Given the description of an element on the screen output the (x, y) to click on. 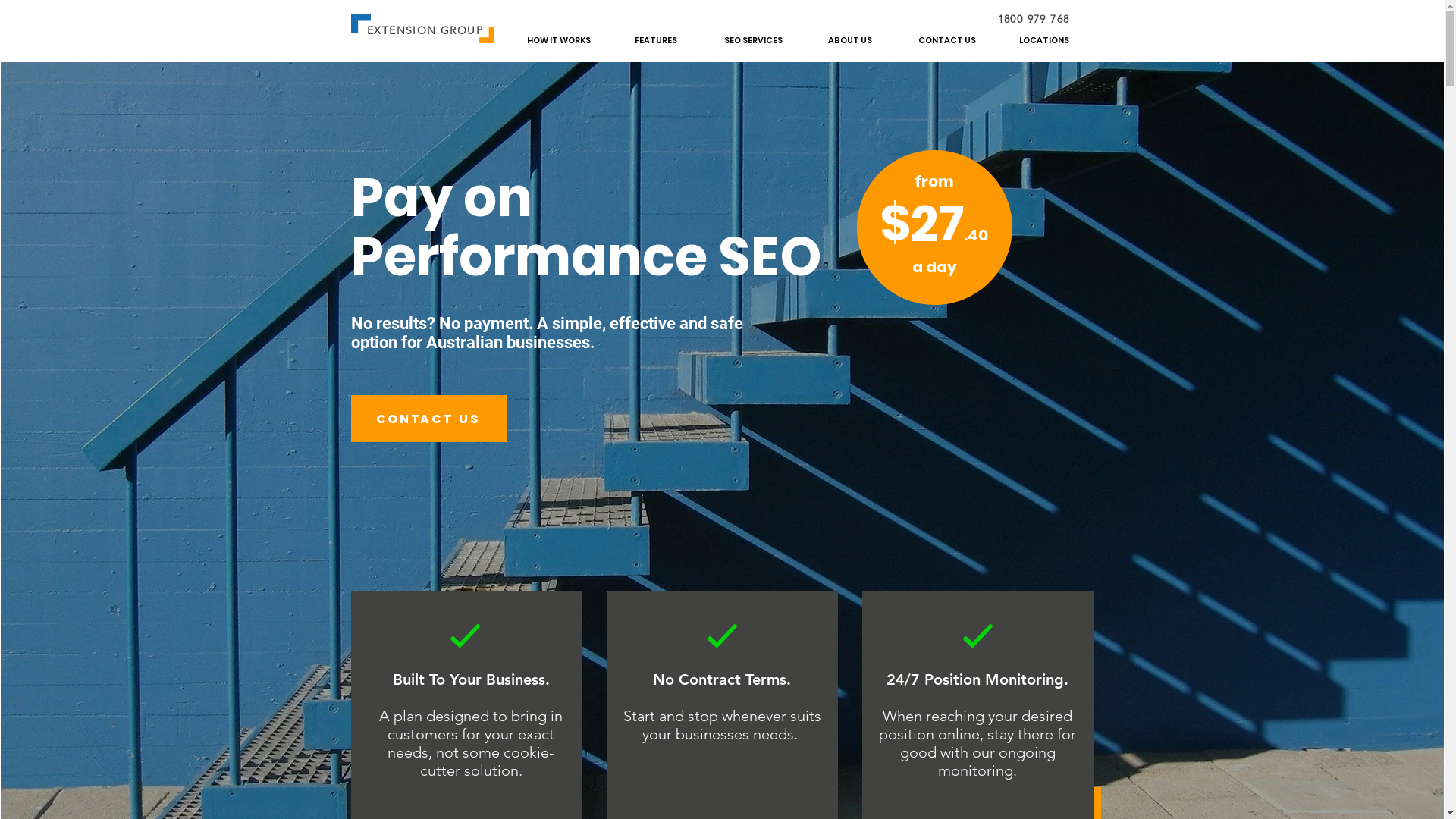
FEATURES Element type: text (654, 40)
Contact Us Element type: text (427, 418)
SEO SERVICES Element type: text (751, 40)
1800 979 768 Element type: text (1033, 18)
EXTENSION GROUP Element type: text (425, 30)
CONTACT US Element type: text (945, 40)
ABOUT US Element type: text (848, 40)
HOW IT WORKS Element type: text (557, 40)
